Given the description of an element on the screen output the (x, y) to click on. 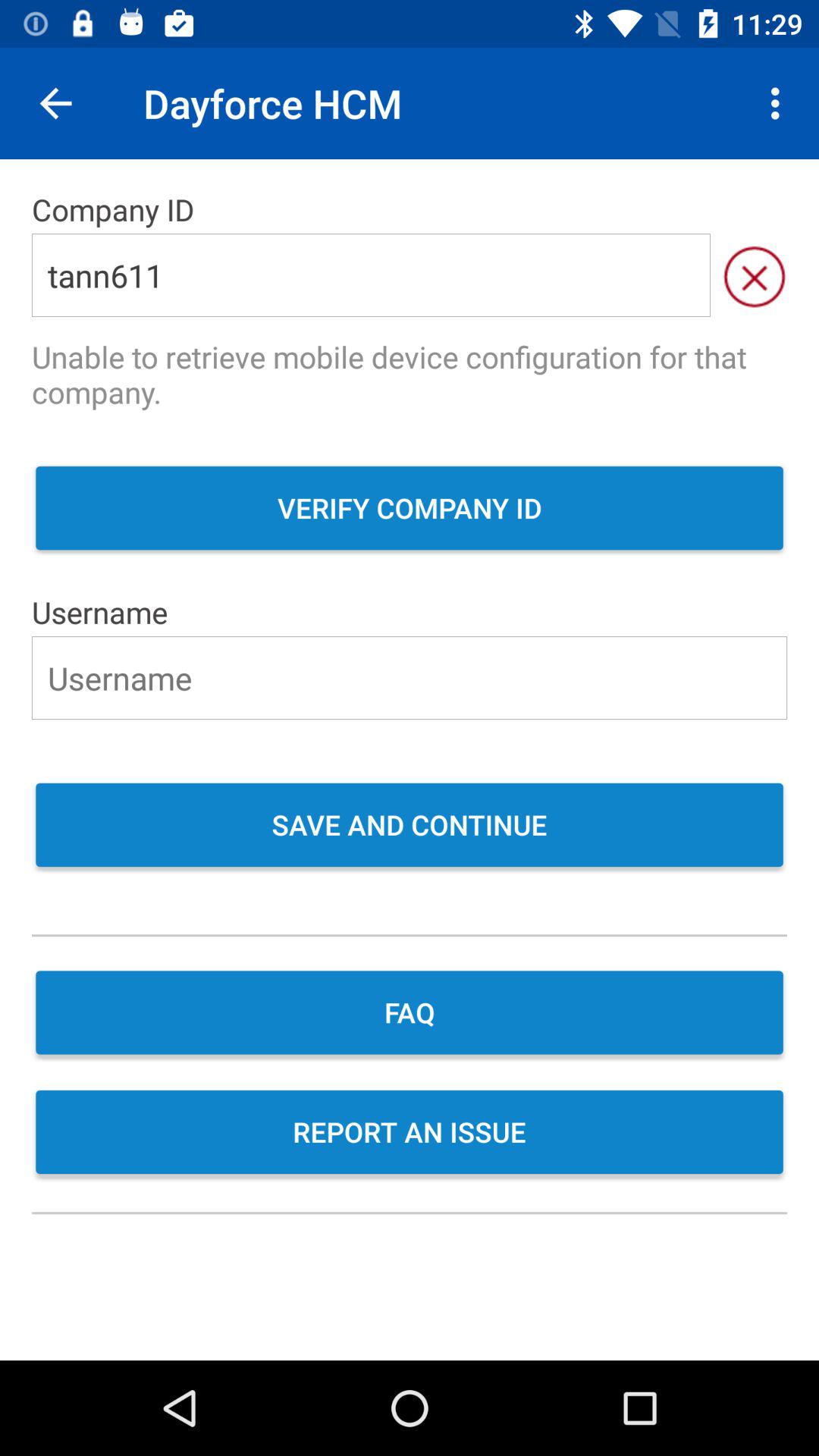
turn off the icon below username icon (409, 677)
